Given the description of an element on the screen output the (x, y) to click on. 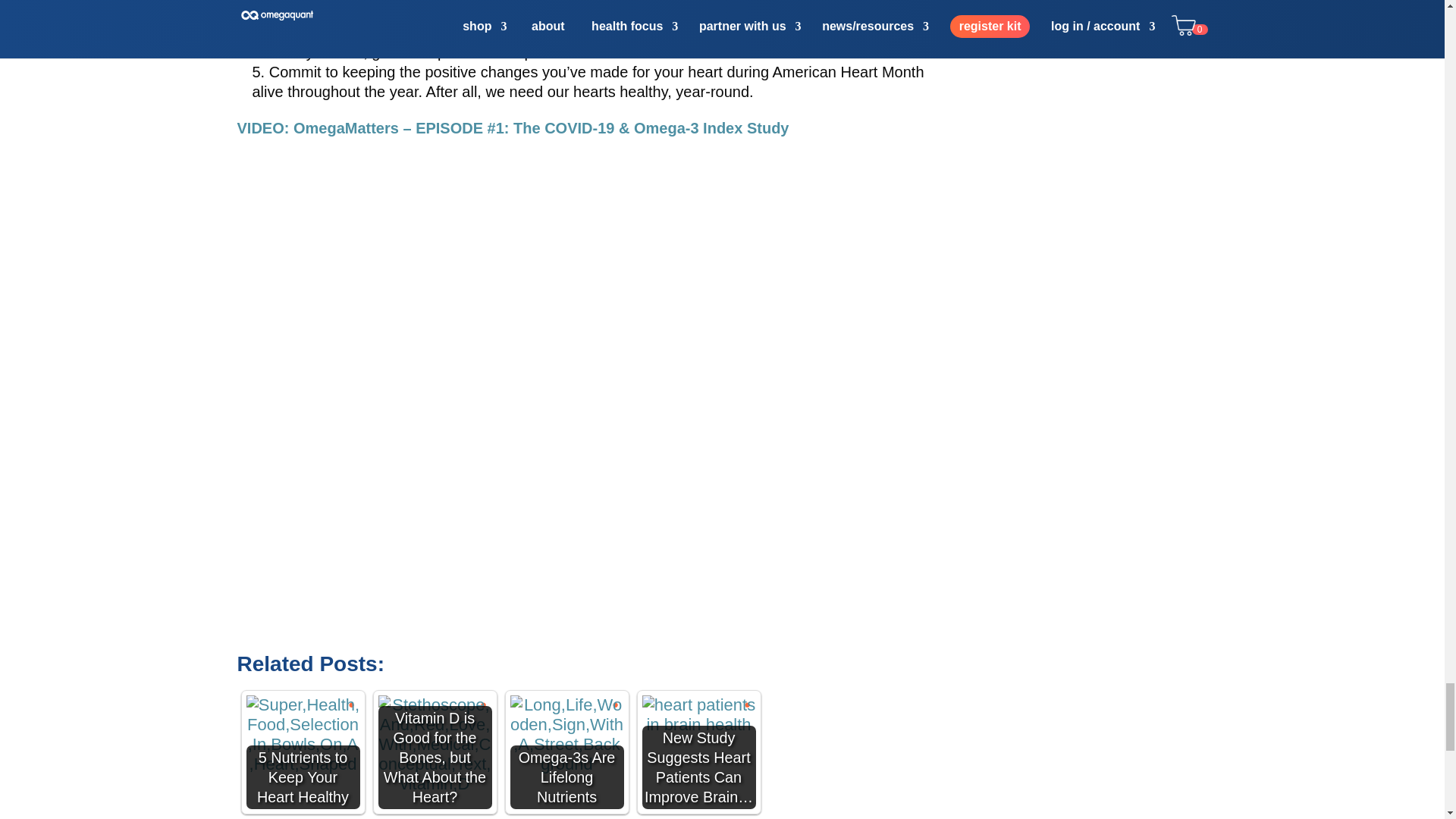
Vitamin D is Good for the Bones, but What About the Heart? (434, 744)
Omega-3s Are Lifelong Nutrients (566, 734)
5 Nutrients to Keep Your Heart Healthy (302, 734)
